Given the description of an element on the screen output the (x, y) to click on. 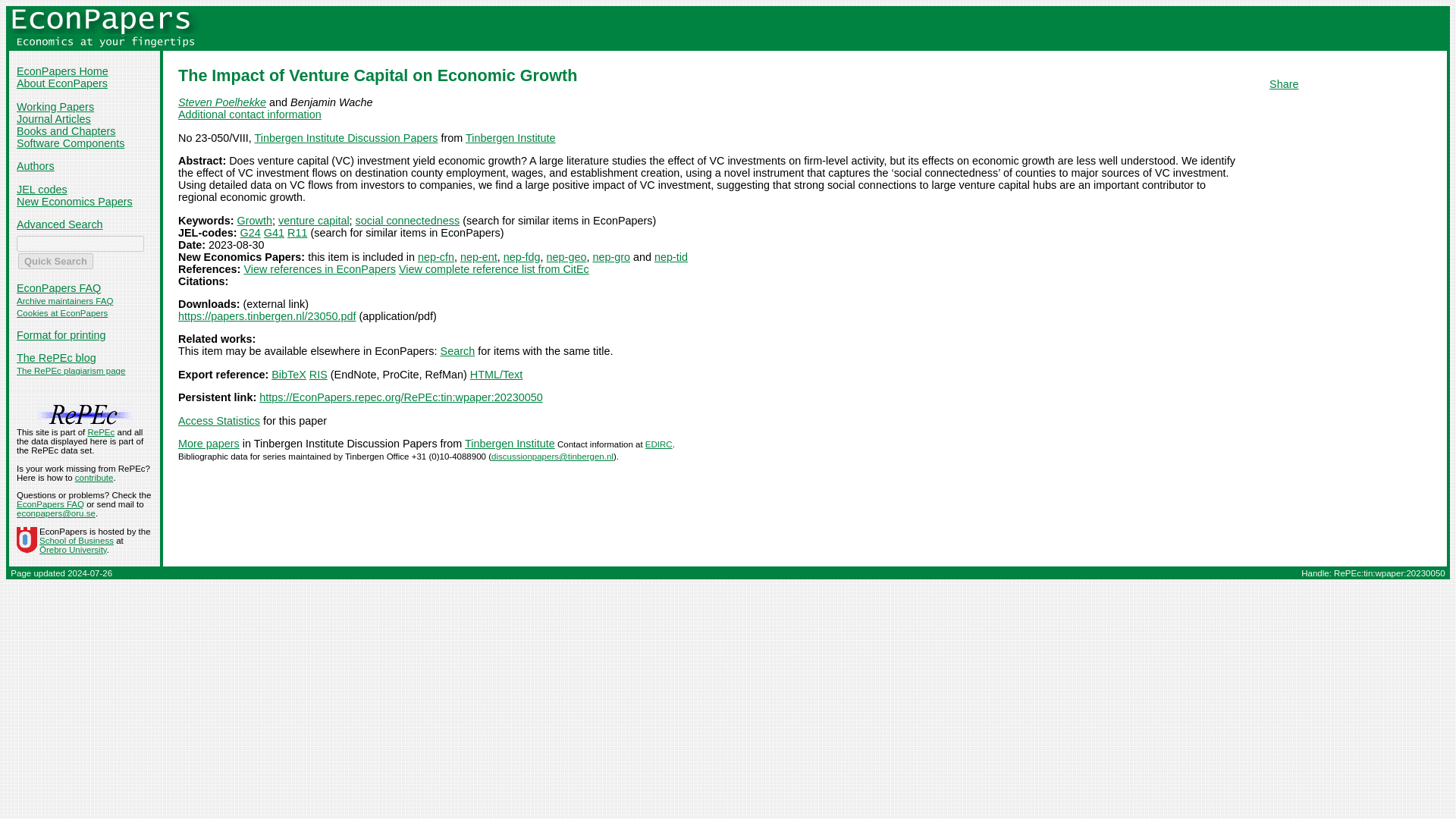
social connectedness (407, 220)
Steven Poelhekke (221, 102)
Growth (254, 220)
Format for printing (61, 335)
The RePEc blog (56, 357)
G24 (250, 232)
nep-cfn (435, 256)
Books and Chapters (65, 131)
G41 (273, 232)
nep-ent (478, 256)
The RePEc plagiarism page (70, 370)
R11 (296, 232)
About EconPapers (61, 82)
Tinbergen Institute (510, 137)
Search (458, 350)
